Given the description of an element on the screen output the (x, y) to click on. 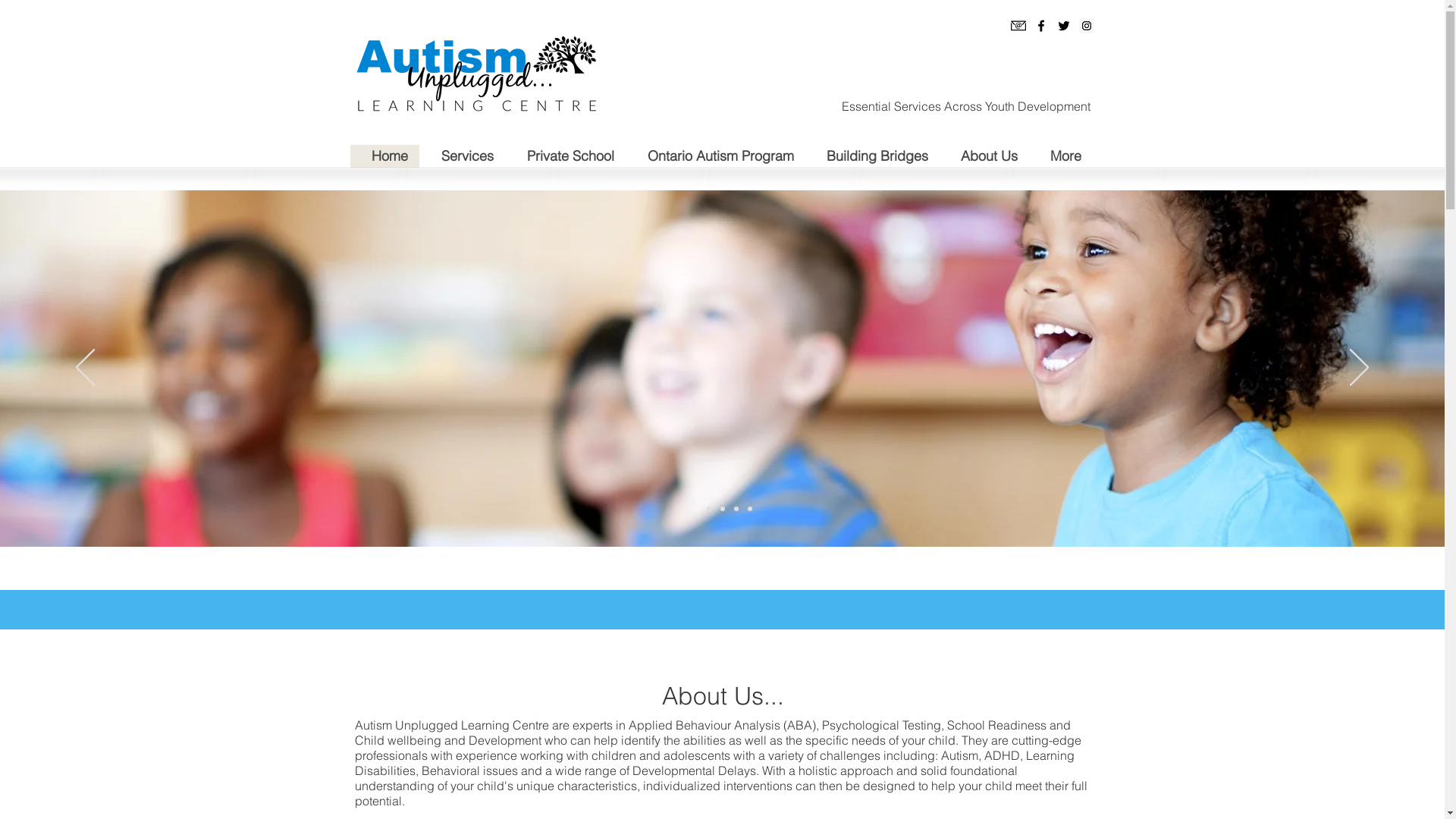
Private School Element type: text (565, 155)
Home Element type: text (384, 155)
Ontario Autism Program Element type: text (714, 155)
Services Element type: text (461, 155)
About Us Element type: text (983, 155)
Building Bridges Element type: text (872, 155)
